Given the description of an element on the screen output the (x, y) to click on. 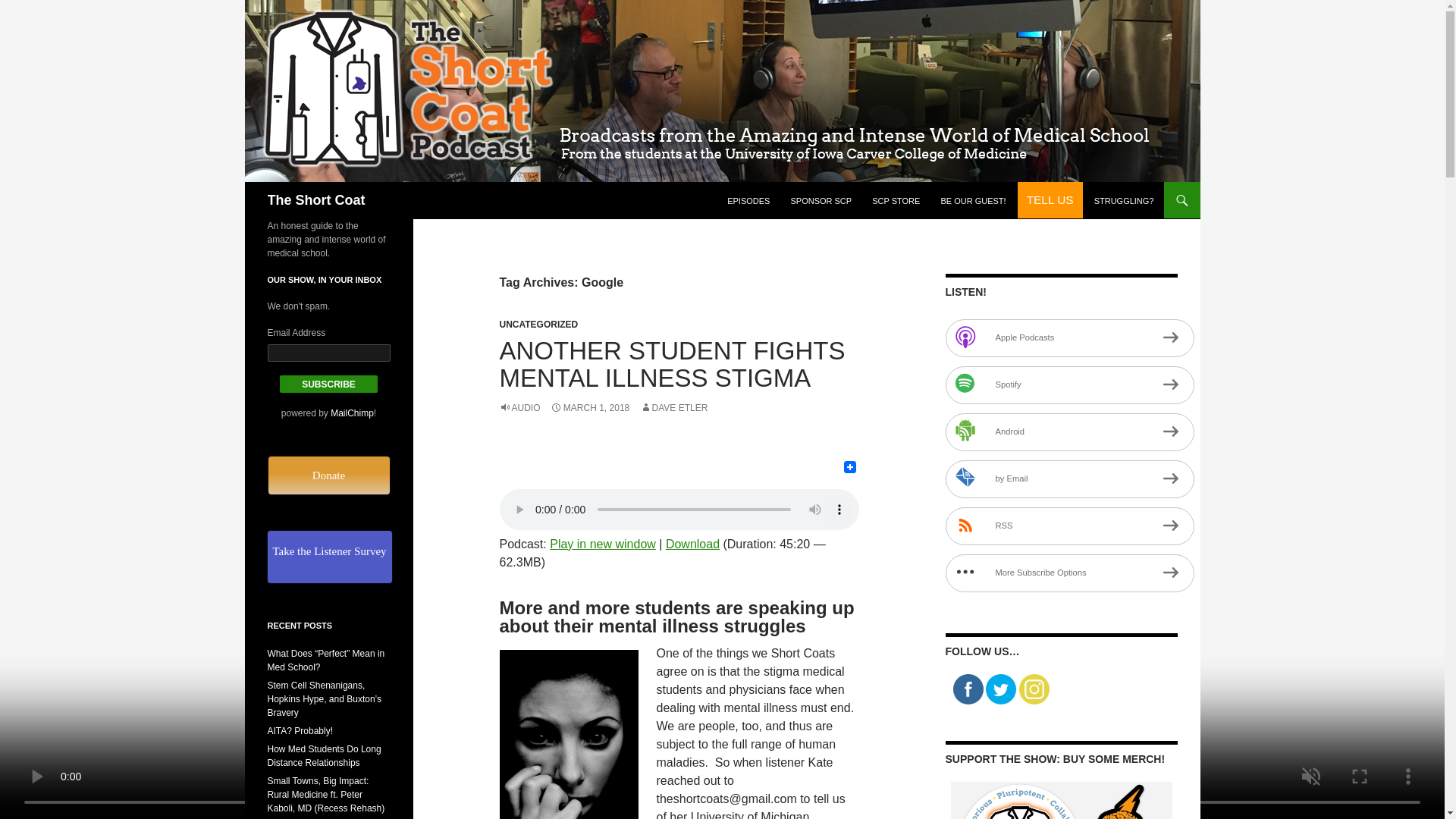
DAVE ETLER (673, 407)
SCP STORE (895, 200)
TELL US (1050, 199)
Download (692, 543)
UNCATEGORIZED (538, 324)
SPONSOR SCP (820, 200)
MARCH 1, 2018 (589, 407)
EPISODES (747, 200)
Subscribe (328, 384)
Download (692, 543)
ANOTHER STUDENT FIGHTS MENTAL ILLNESS STIGMA (671, 364)
The Short Coat (315, 199)
Play in new window (603, 543)
